Given the description of an element on the screen output the (x, y) to click on. 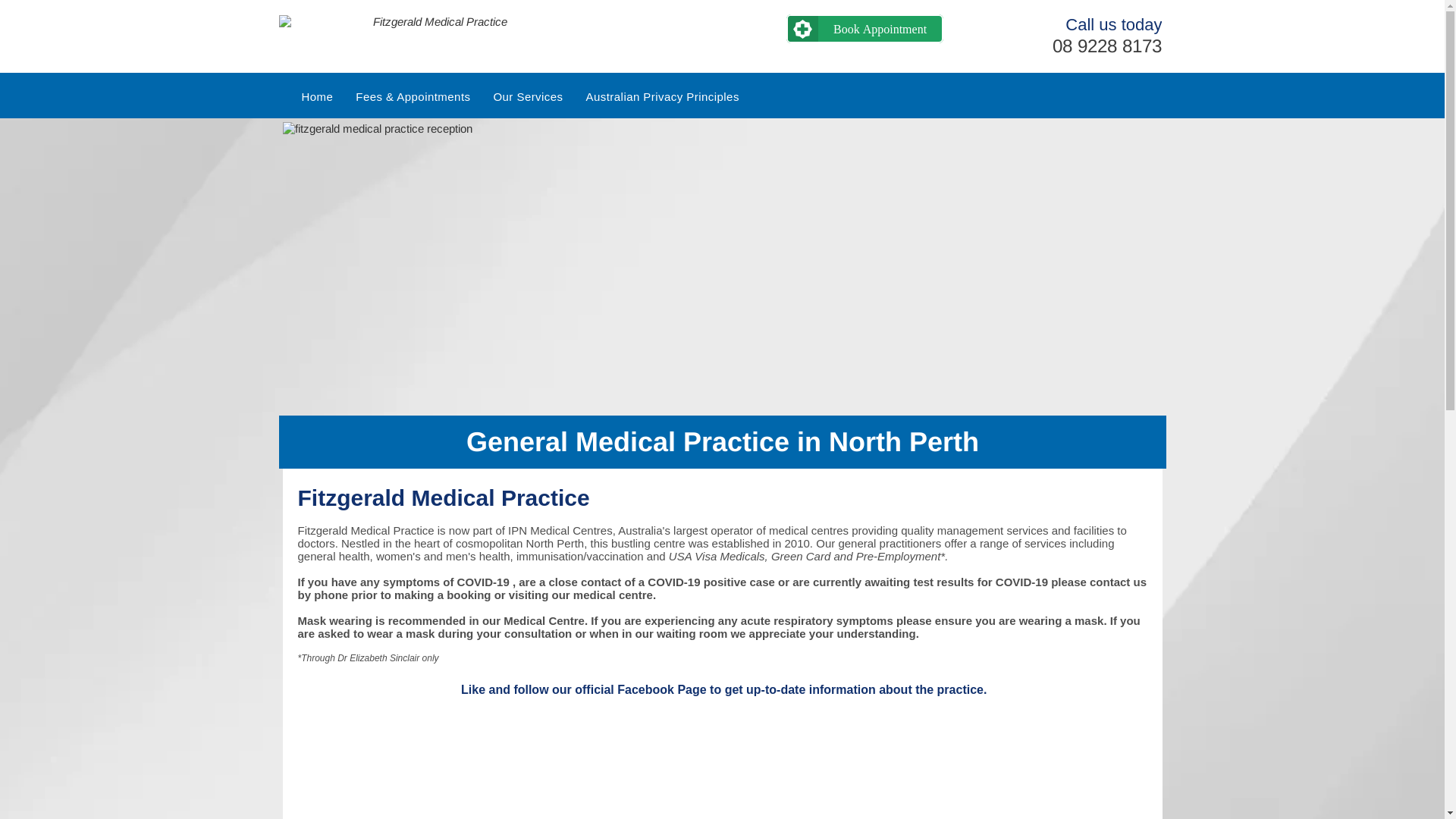
Book Appointment Element type: text (864, 28)
Our Services Element type: text (527, 96)
Home Element type: text (316, 96)
08 9228 8173 Element type: text (1106, 45)
fitzgerald medical practice reception Element type: hover (721, 268)
Australian Privacy Principles Element type: text (662, 96)
Fees & Appointments Element type: text (412, 96)
